Given the description of an element on the screen output the (x, y) to click on. 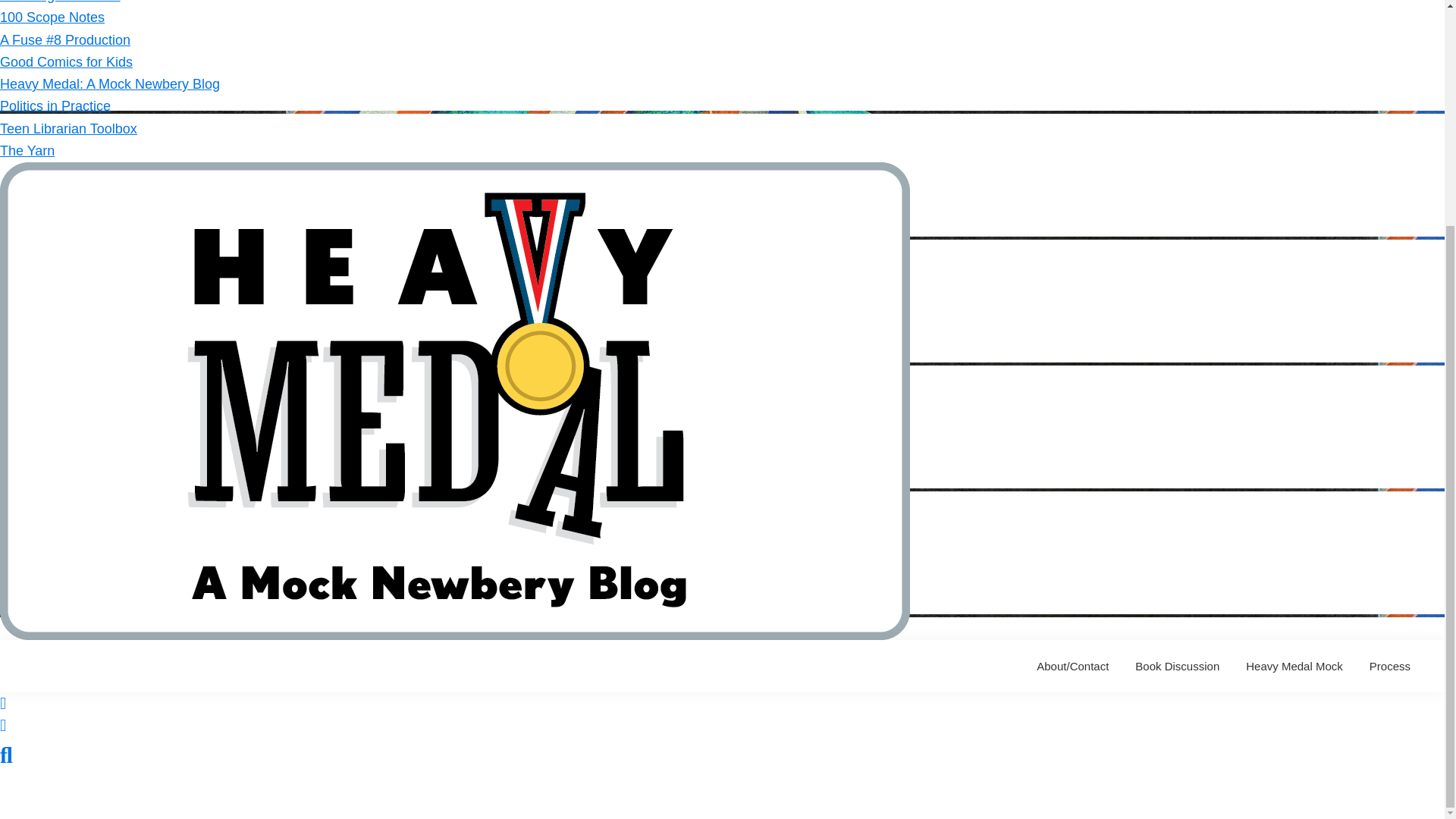
Good Comics for Kids (66, 61)
Heavy Medal Mock (1294, 665)
Book Discussion (1177, 665)
Heavy Medal: A Mock Newbery Blog (109, 83)
The Yarn (27, 150)
Teen Librarian Toolbox (68, 128)
Process (1390, 665)
Politics in Practice (55, 105)
100 Scope Notes (52, 17)
